Given the description of an element on the screen output the (x, y) to click on. 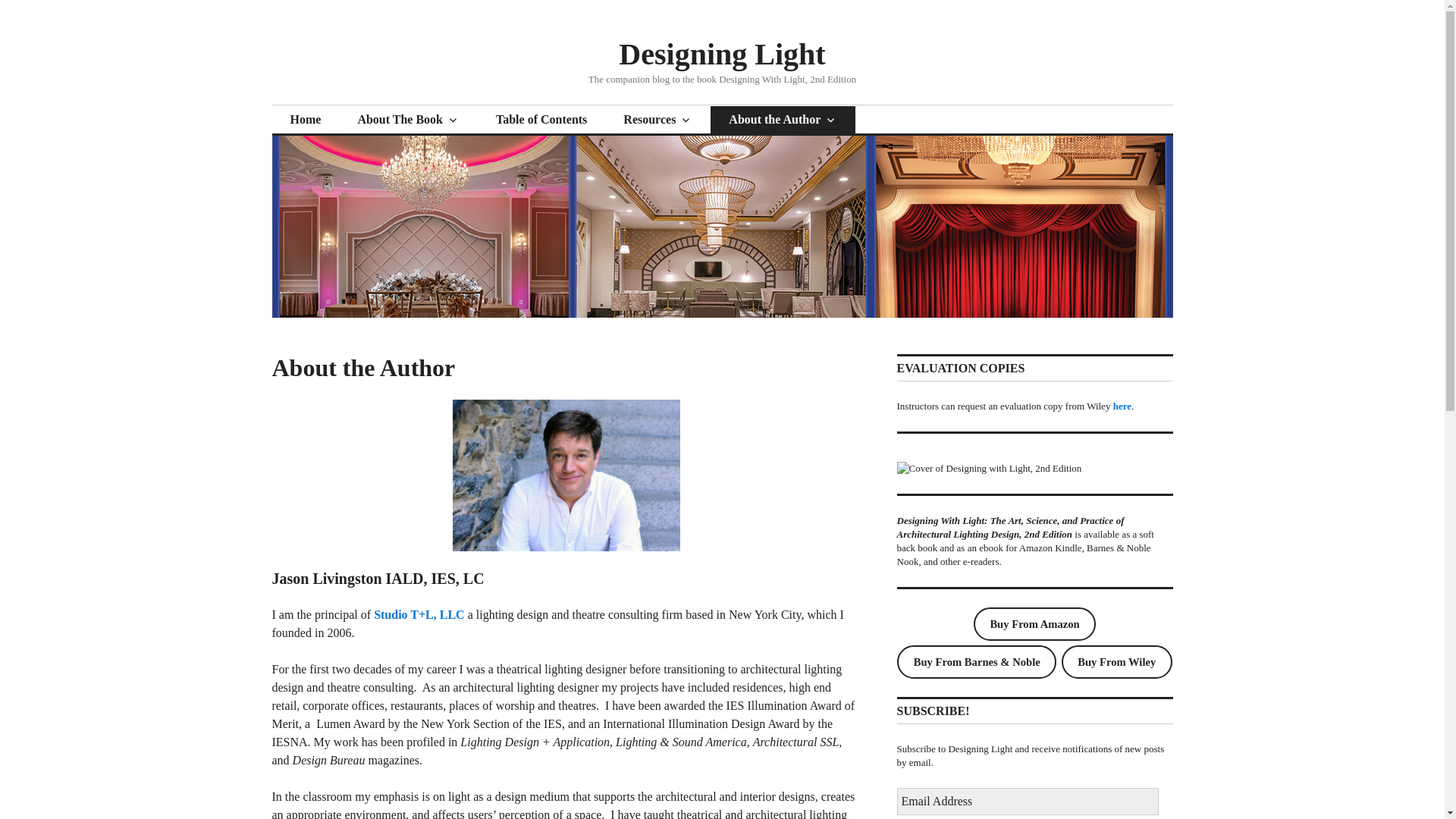
Buy From Wiley (1116, 661)
Resources (657, 119)
About The Book (408, 119)
Home (304, 119)
About the Author (783, 119)
Buy From Amazon (1035, 623)
here (1122, 405)
Table of Contents (541, 119)
Designing Light (721, 53)
